Given the description of an element on the screen output the (x, y) to click on. 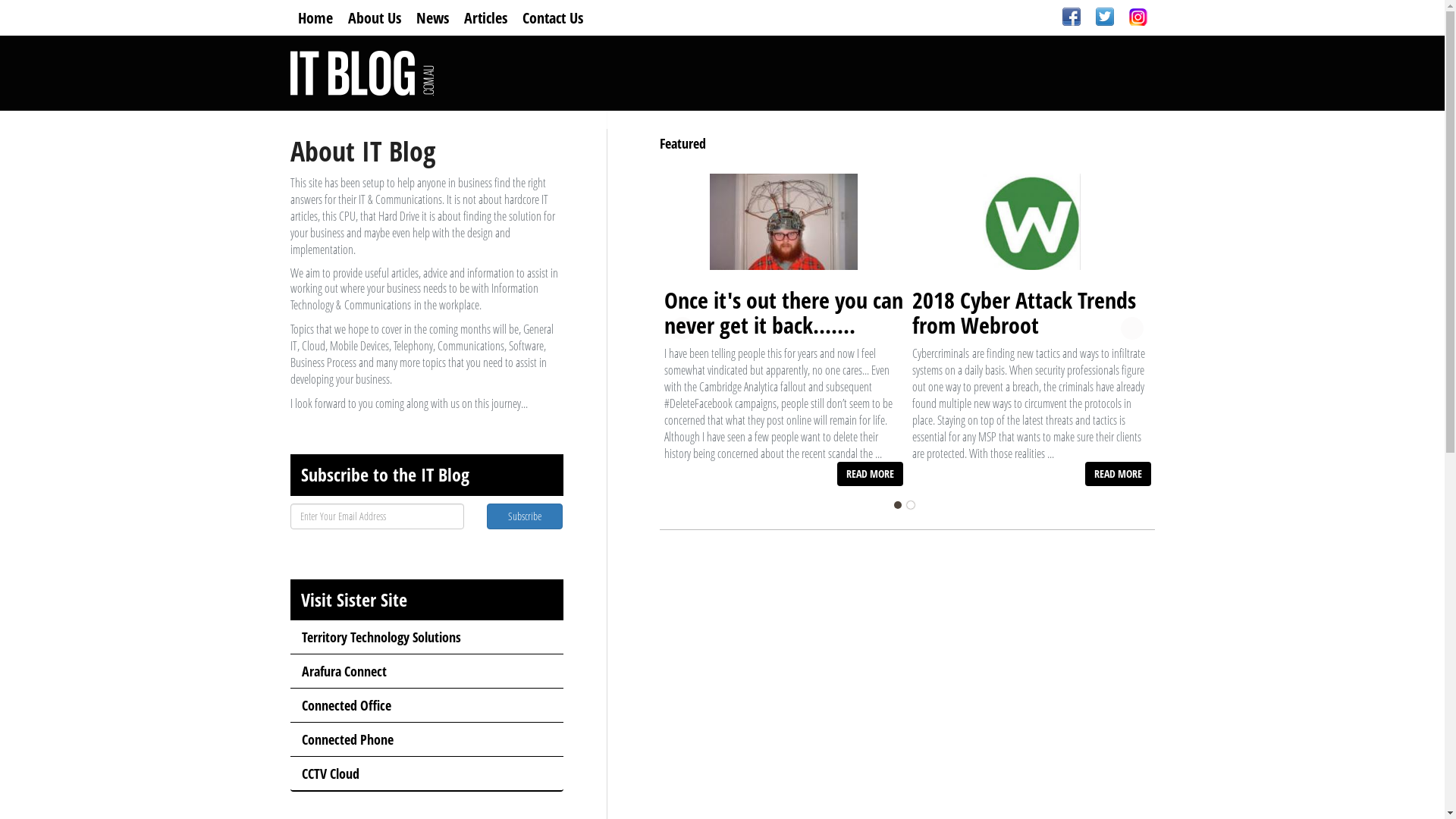
News Element type: text (431, 17)
Connected Phone Element type: text (425, 739)
READ MORE Element type: text (1118, 473)
About Us Element type: text (373, 17)
READ MORE Element type: text (870, 473)
1 Element type: text (897, 504)
CCTV Cloud Element type: text (425, 773)
2 Element type: text (910, 504)
Contact Us Element type: text (551, 17)
Connected Office Element type: text (425, 705)
Once it's out there you can never get it back....... Element type: text (783, 312)
Home Element type: text (314, 17)
Subscribe Element type: text (524, 516)
Arafura Connect Element type: text (425, 671)
Territory Technology Solutions Element type: text (425, 637)
Articles Element type: text (485, 17)
2018 Cyber Attack Trends from Webroot Element type: text (1023, 312)
